Given the description of an element on the screen output the (x, y) to click on. 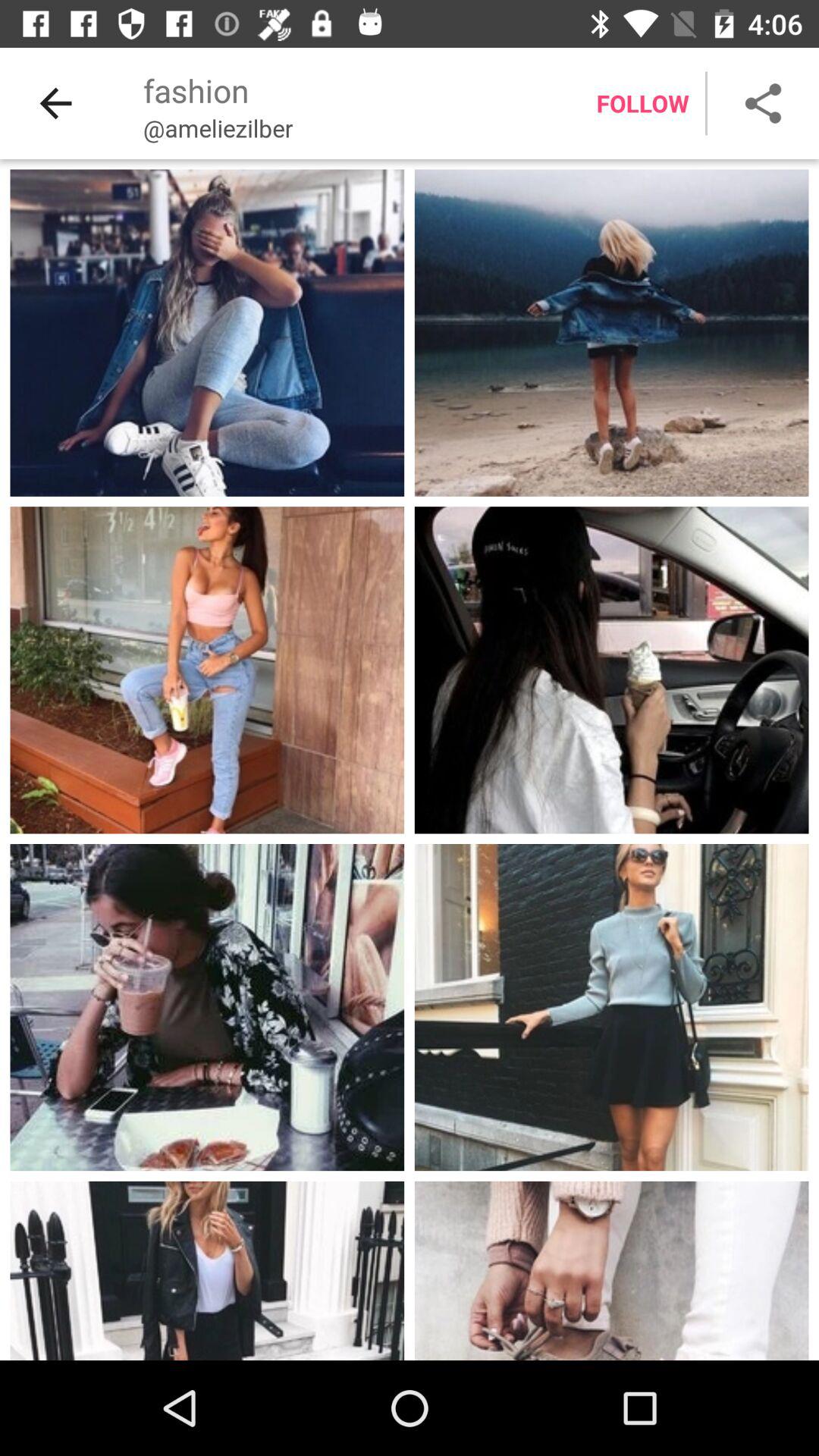
select follow item (642, 103)
